Given the description of an element on the screen output the (x, y) to click on. 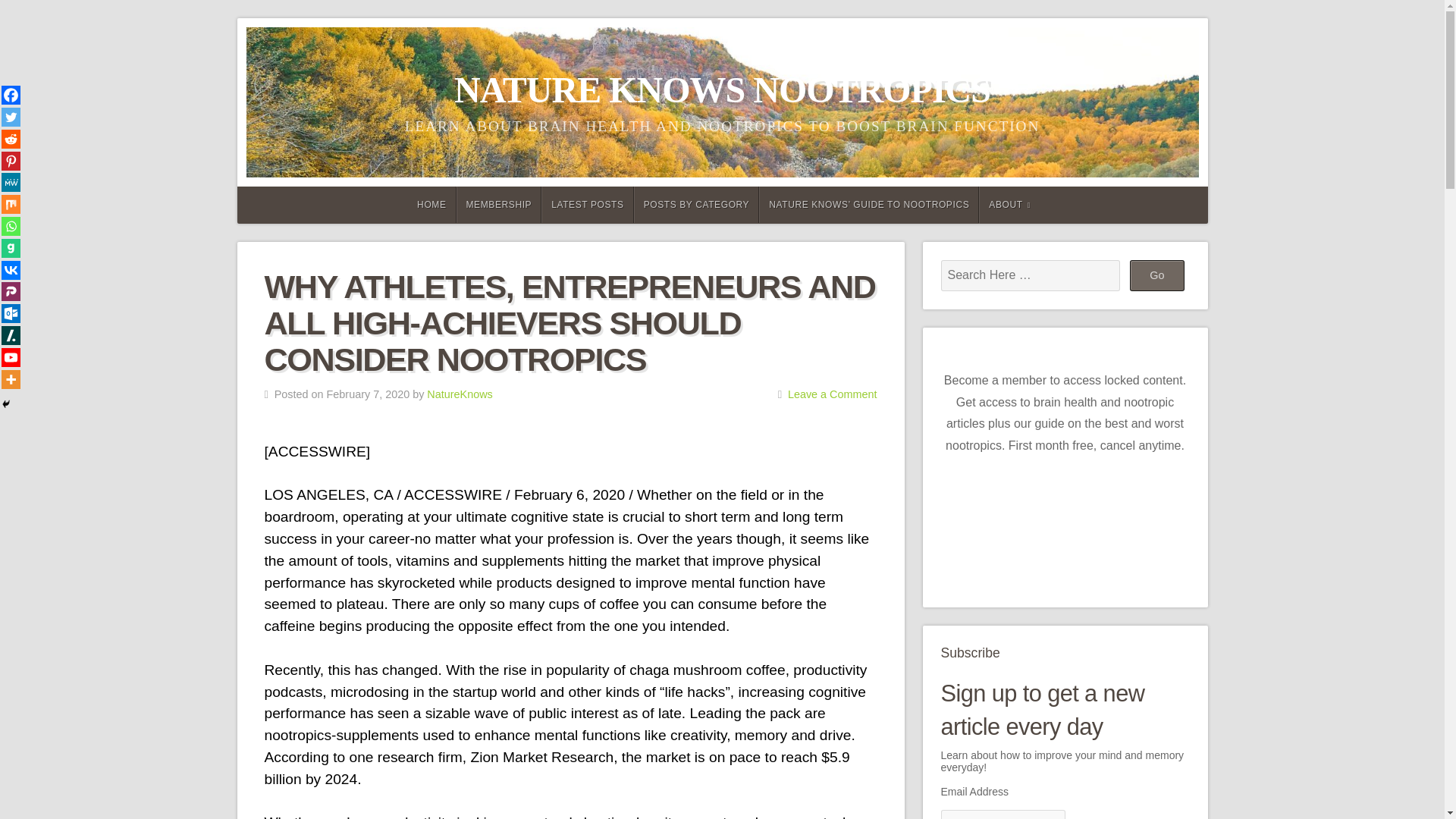
NATURE KNOWS NOOTROPICS (722, 89)
LATEST POSTS (587, 204)
Posts by NatureKnows (459, 394)
ABOUT (1008, 204)
Leave a Comment (832, 394)
POSTS BY CATEGORY (696, 204)
Go (1157, 275)
MEMBERSHIP (499, 204)
NatureKnows (459, 394)
Leave a Comment (832, 394)
HOME (429, 204)
